Given the description of an element on the screen output the (x, y) to click on. 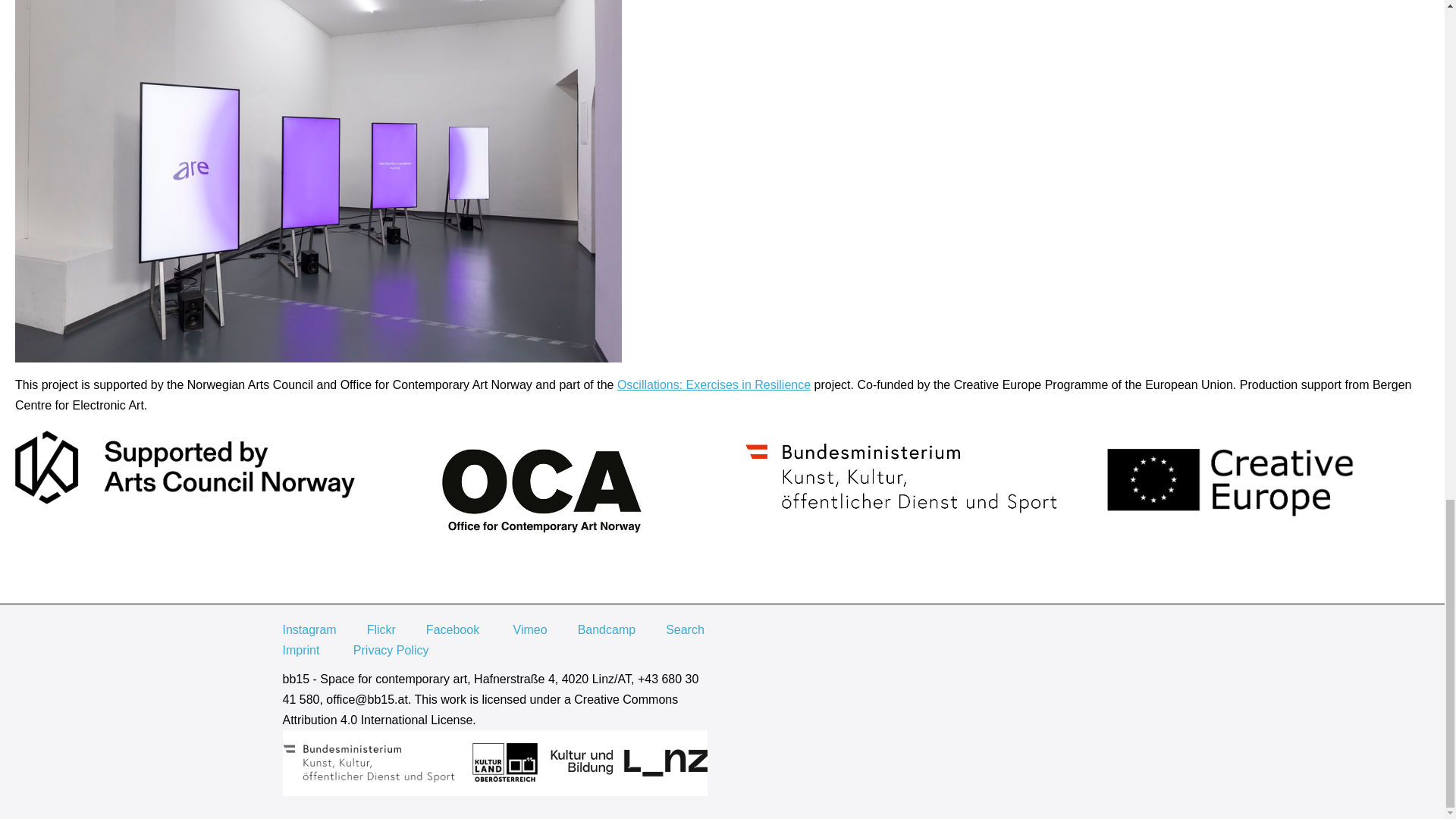
Vimeo (530, 629)
Imprint (300, 649)
Instagram (309, 629)
Search (684, 629)
Privacy Policy (391, 649)
Flickr (381, 629)
Oscillations: Exercises in Resilience (713, 384)
Facebook (452, 629)
Bandcamp (607, 629)
